Given the description of an element on the screen output the (x, y) to click on. 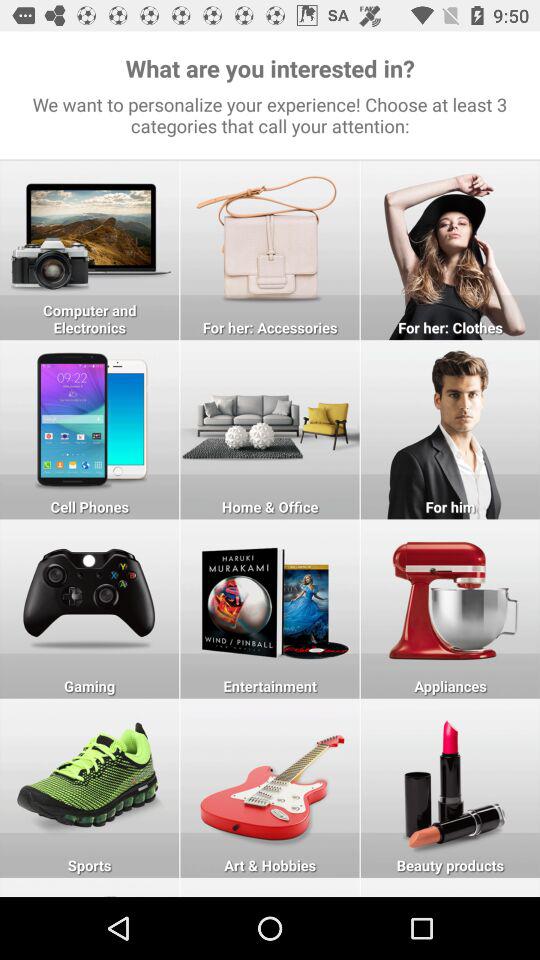
cell phone section (89, 429)
